Given the description of an element on the screen output the (x, y) to click on. 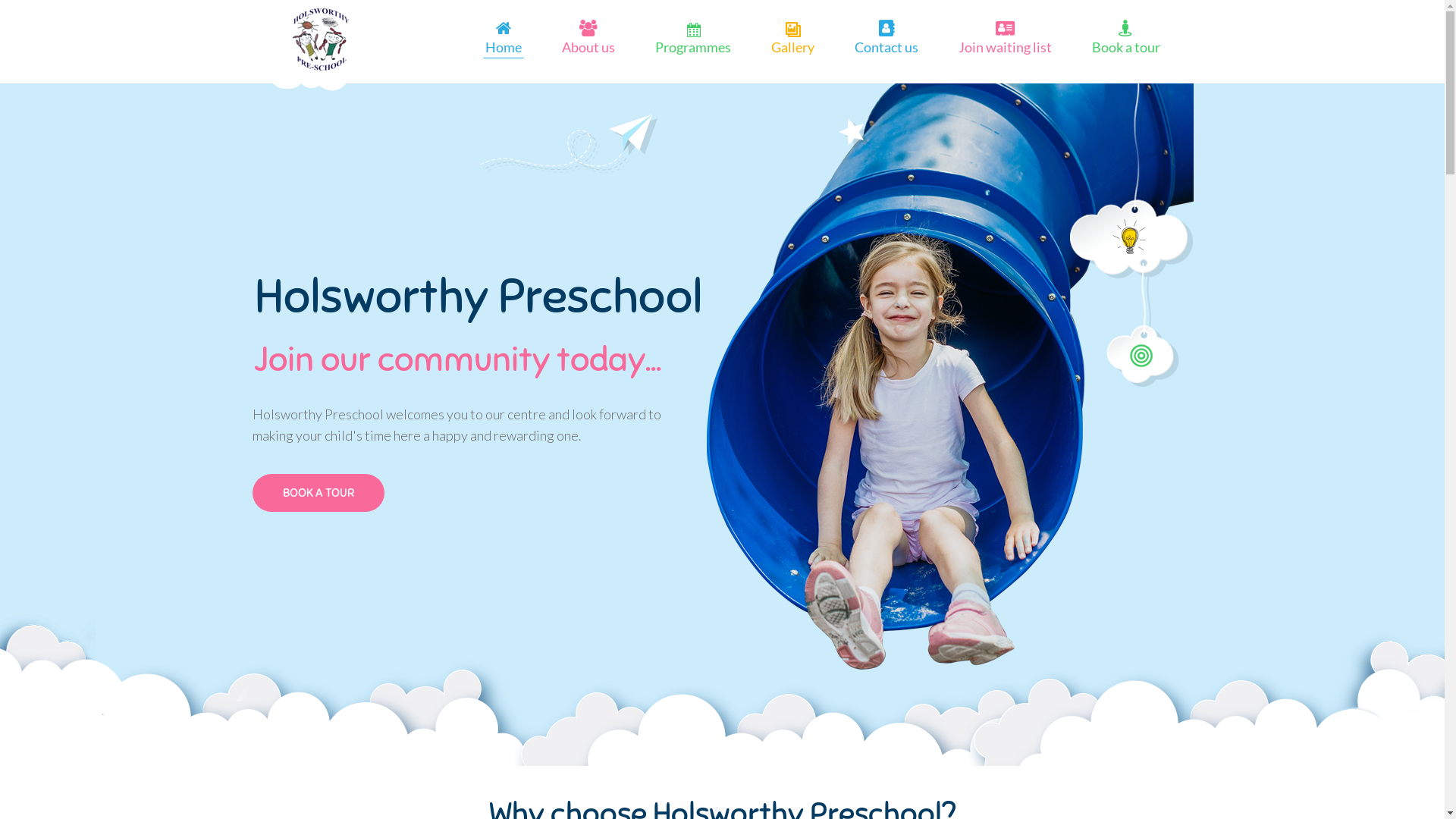
BOOK A TOUR Element type: text (317, 492)
Contact us Element type: text (885, 47)
Programmes Element type: text (692, 47)
Gallery Element type: text (791, 47)
Home Element type: text (503, 47)
About us Element type: text (587, 47)
Book a tour Element type: text (1125, 47)
Join waiting list Element type: text (1004, 47)
